Given the description of an element on the screen output the (x, y) to click on. 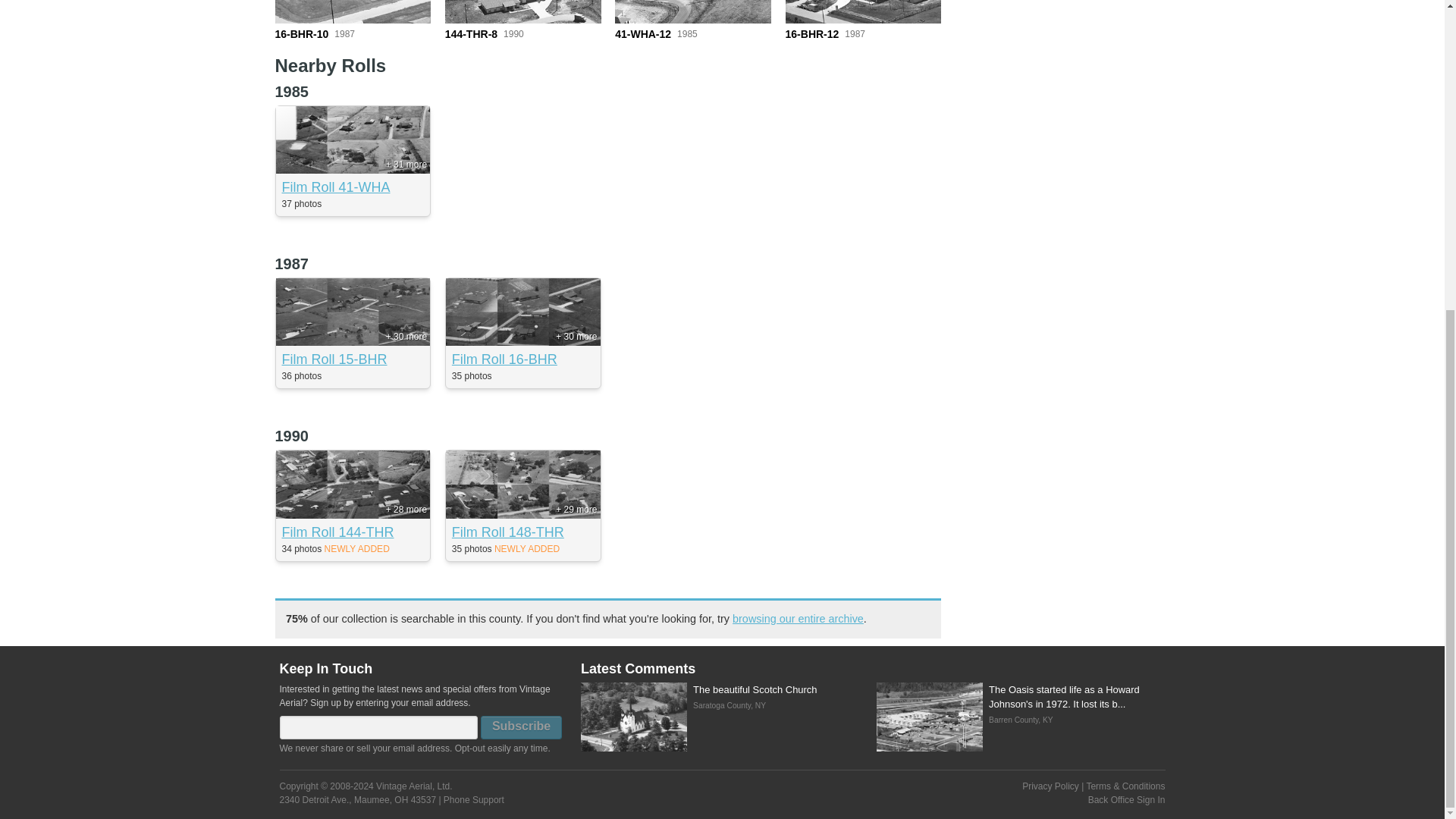
browsing our entire archive (797, 618)
Subscribe (521, 727)
